Given the description of an element on the screen output the (x, y) to click on. 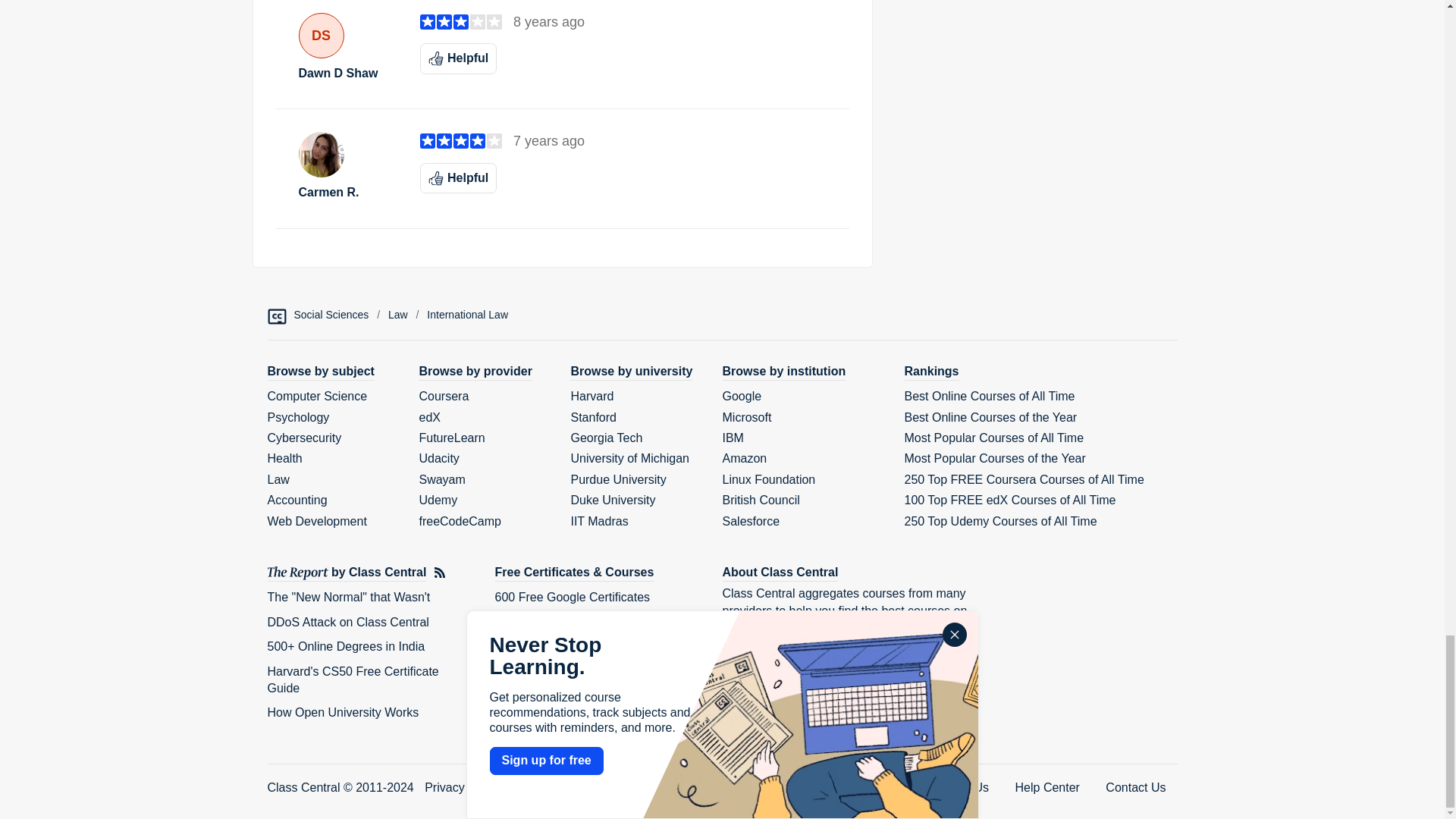
1700 Free Coursera Courses (572, 645)
Harvard's CS50 Free Certificate Guide (352, 678)
Carmen R. (347, 192)
9000 Free Courses from Tech Giants (594, 621)
DDoS Attack on Class Central (347, 621)
Free Courses and Certificates (574, 572)
The "New Normal" that Wasn't (347, 596)
How Open University Works (342, 712)
600 Free Google Certificates (572, 596)
Dawn D Shaw (347, 73)
